Given the description of an element on the screen output the (x, y) to click on. 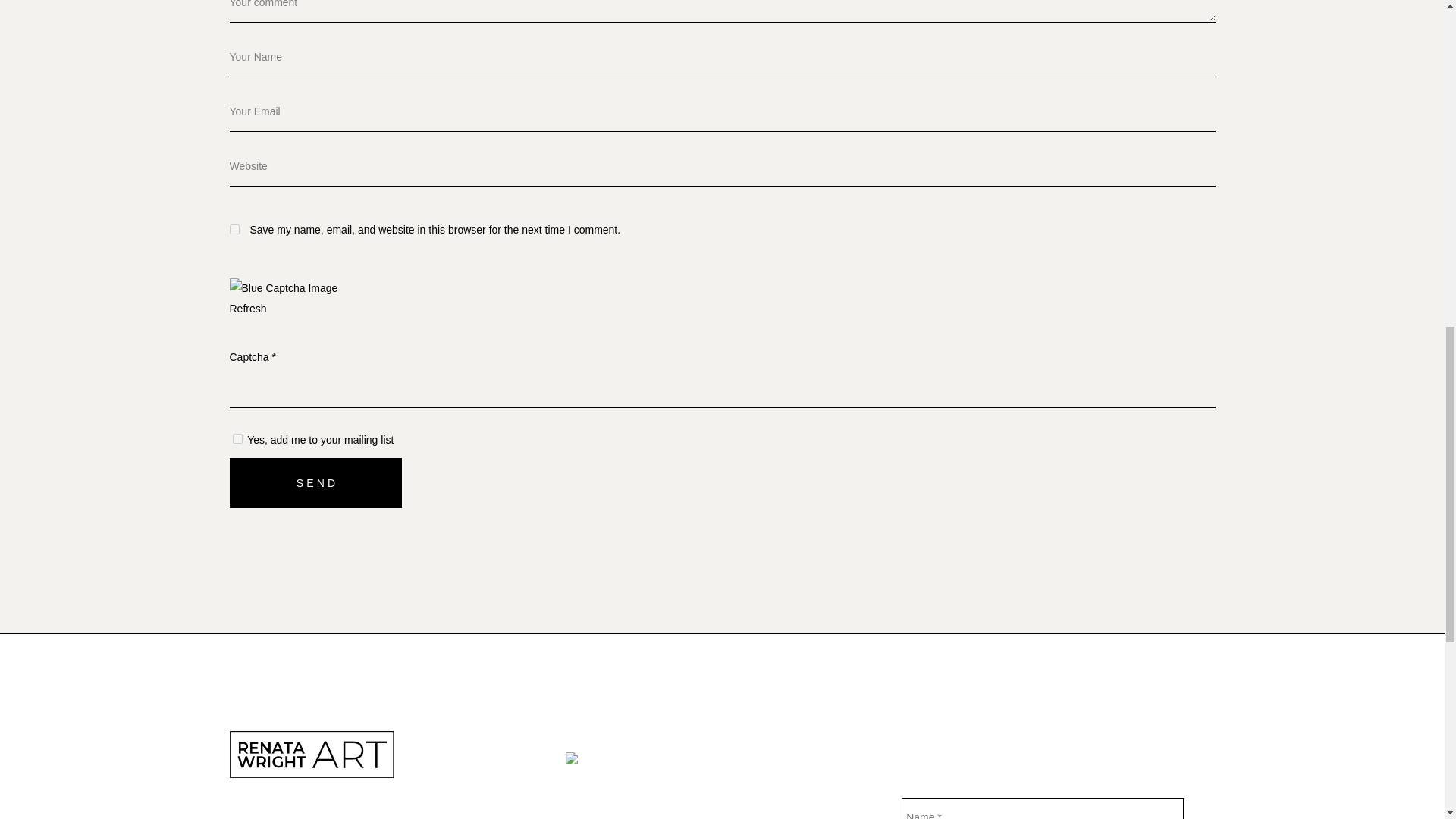
Click to refresh Captcha Image (282, 288)
yes (233, 229)
Check out my Redbubble page (639, 762)
Name (1042, 808)
Enter Captcha here (721, 387)
1 (236, 438)
Check out my Redbubble page (778, 770)
Click to refresh Captcha Image (247, 308)
